Given the description of an element on the screen output the (x, y) to click on. 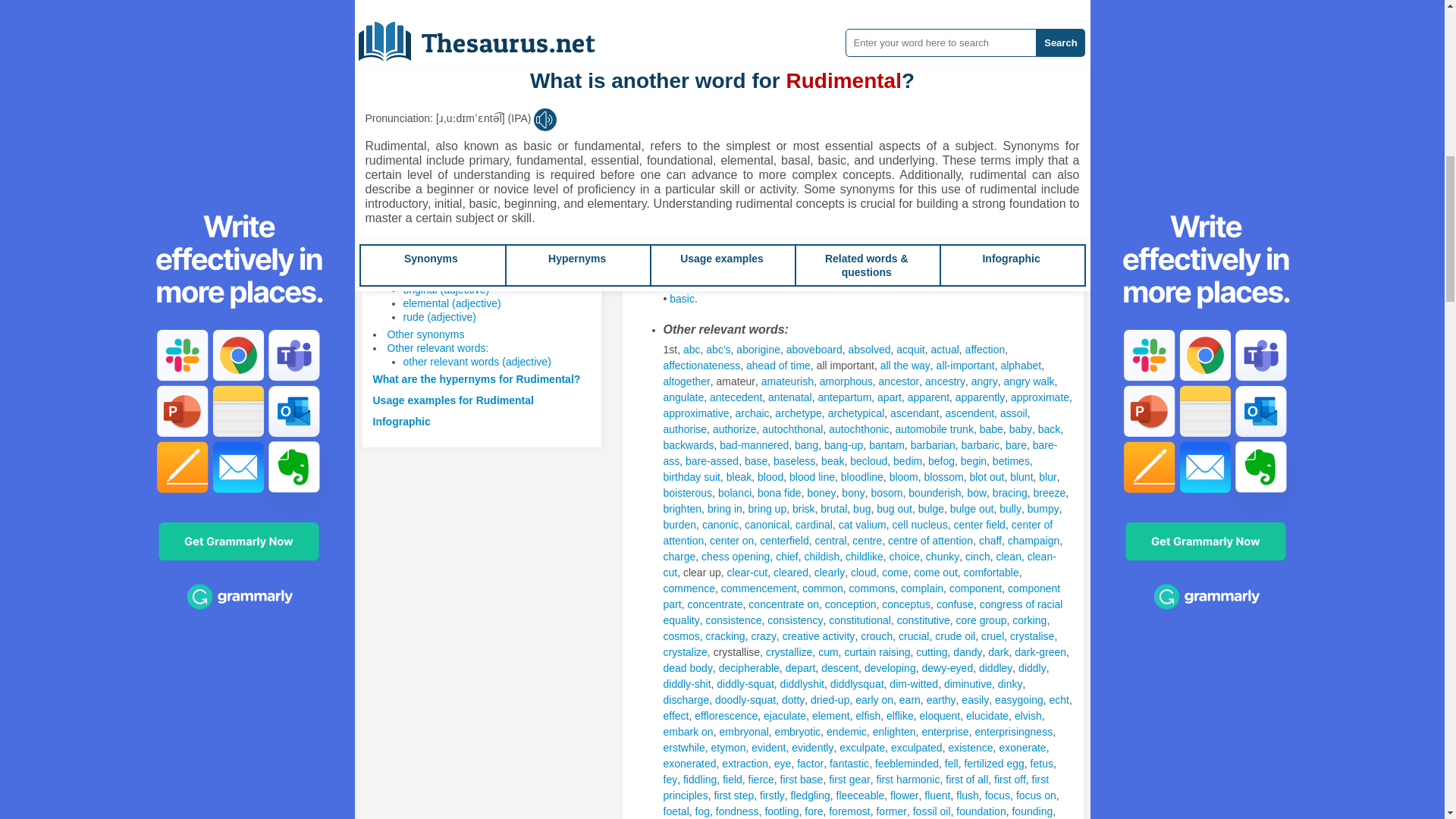
Synonyms for Rudimental (985, 28)
prototypal (883, 44)
Infographic (401, 421)
Synonyms for Rudimental (809, 138)
underived (803, 28)
archetypal (985, 28)
pristine (837, 44)
early (673, 44)
Synonyms for Rudimental (686, 28)
Synonyms for Rudimental (850, 138)
Synonyms for Rudimental (673, 44)
What is another word for Rudimental? (469, 246)
starting (931, 44)
Synonyms for Rudimental (745, 28)
Other relevant words: (437, 347)
